Given the description of an element on the screen output the (x, y) to click on. 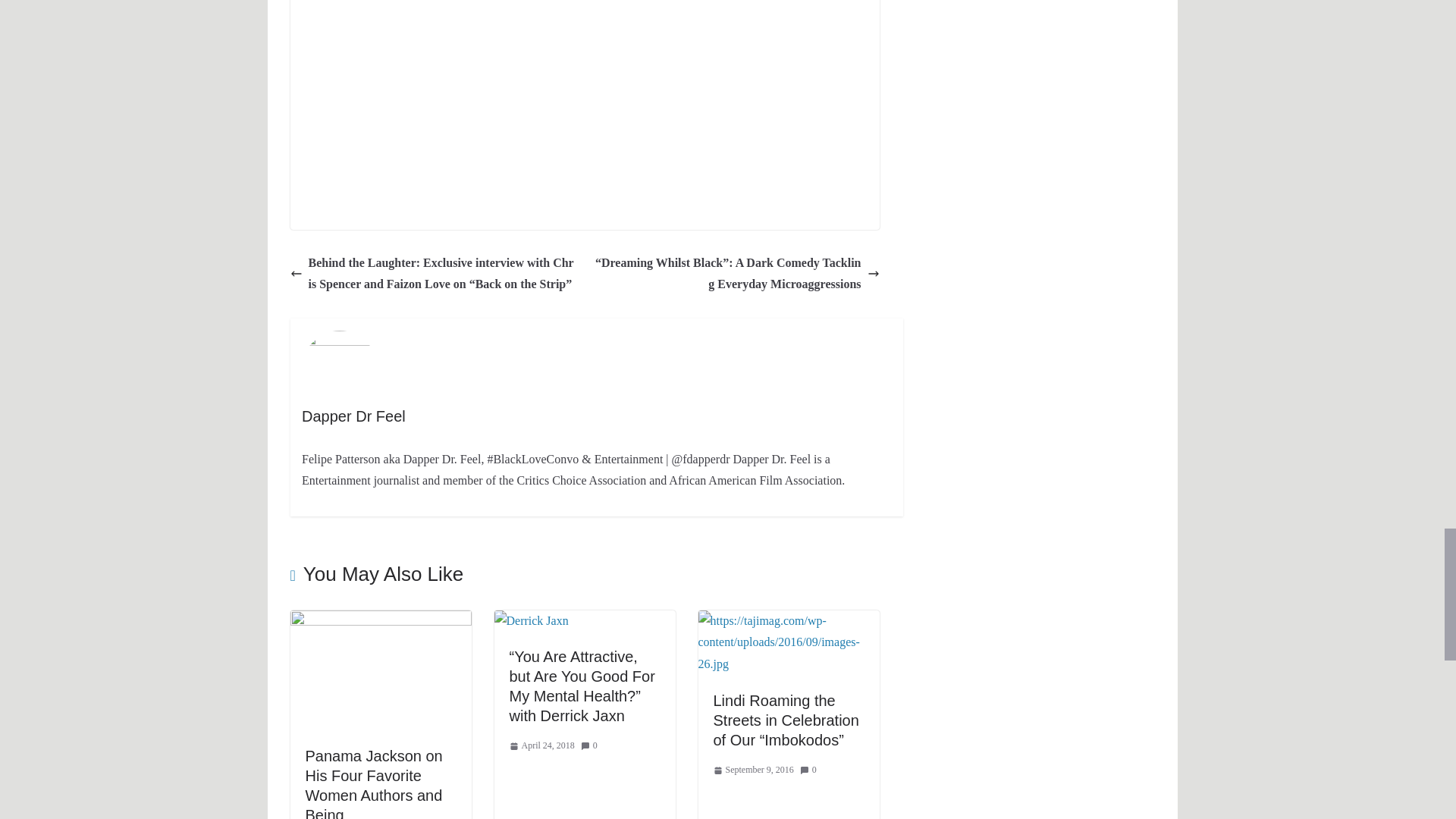
12:15 am (753, 770)
4:01 pm (542, 745)
